Given the description of an element on the screen output the (x, y) to click on. 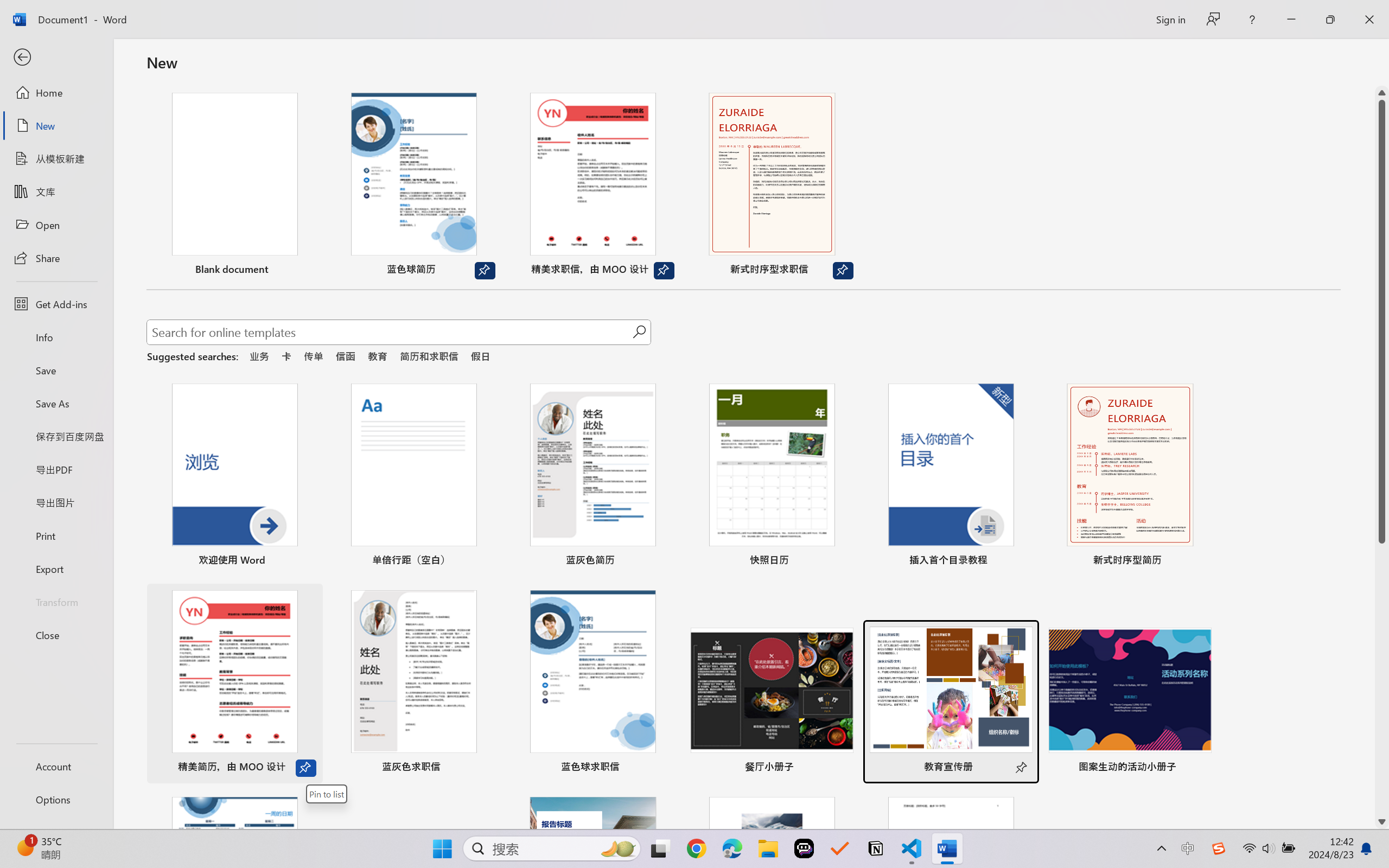
Info (56, 337)
Page down (1382, 679)
Unpin from list (842, 270)
Transform (56, 601)
